Given the description of an element on the screen output the (x, y) to click on. 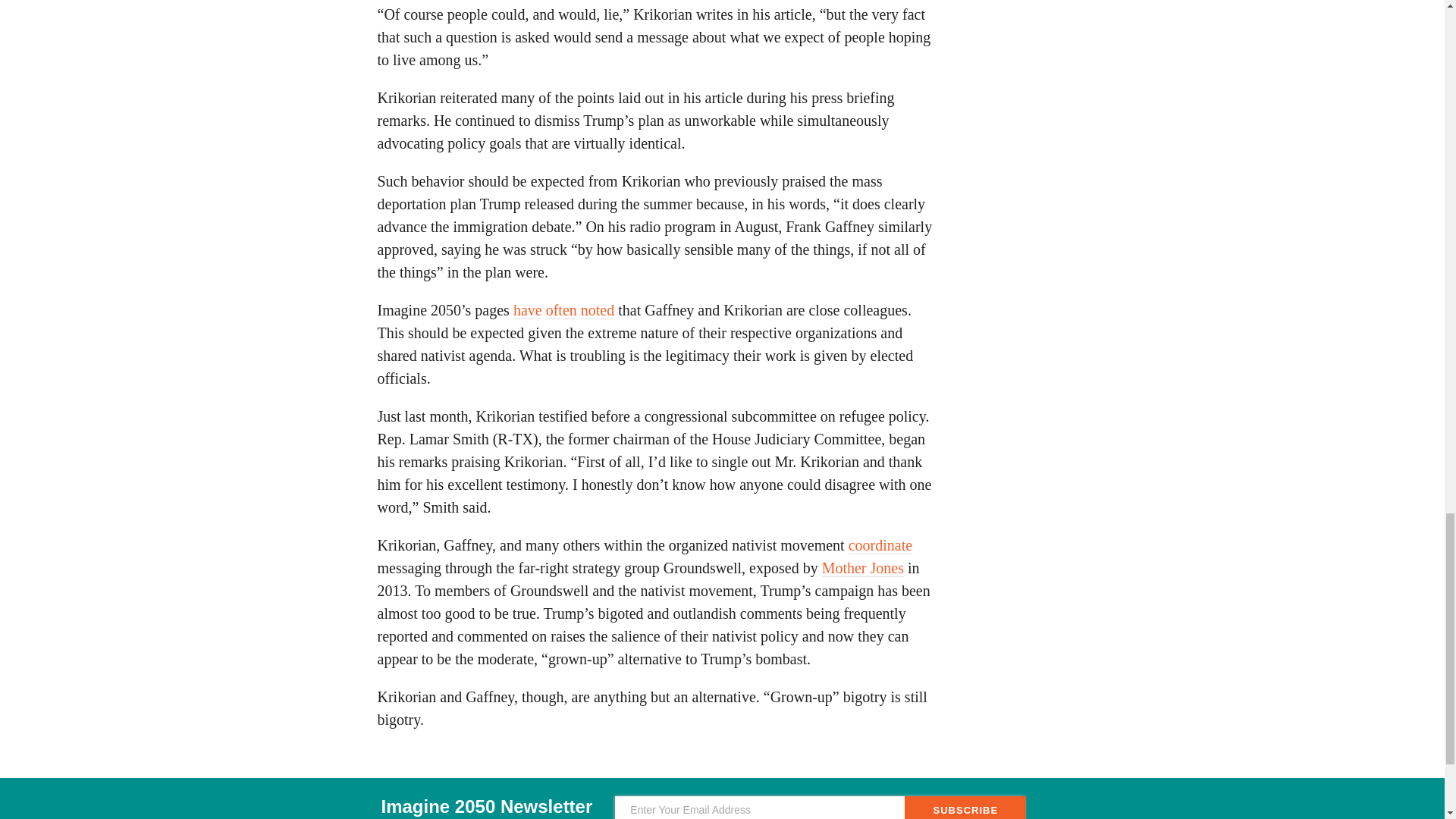
have (527, 310)
often (561, 310)
Subscribe (965, 807)
